Given the description of an element on the screen output the (x, y) to click on. 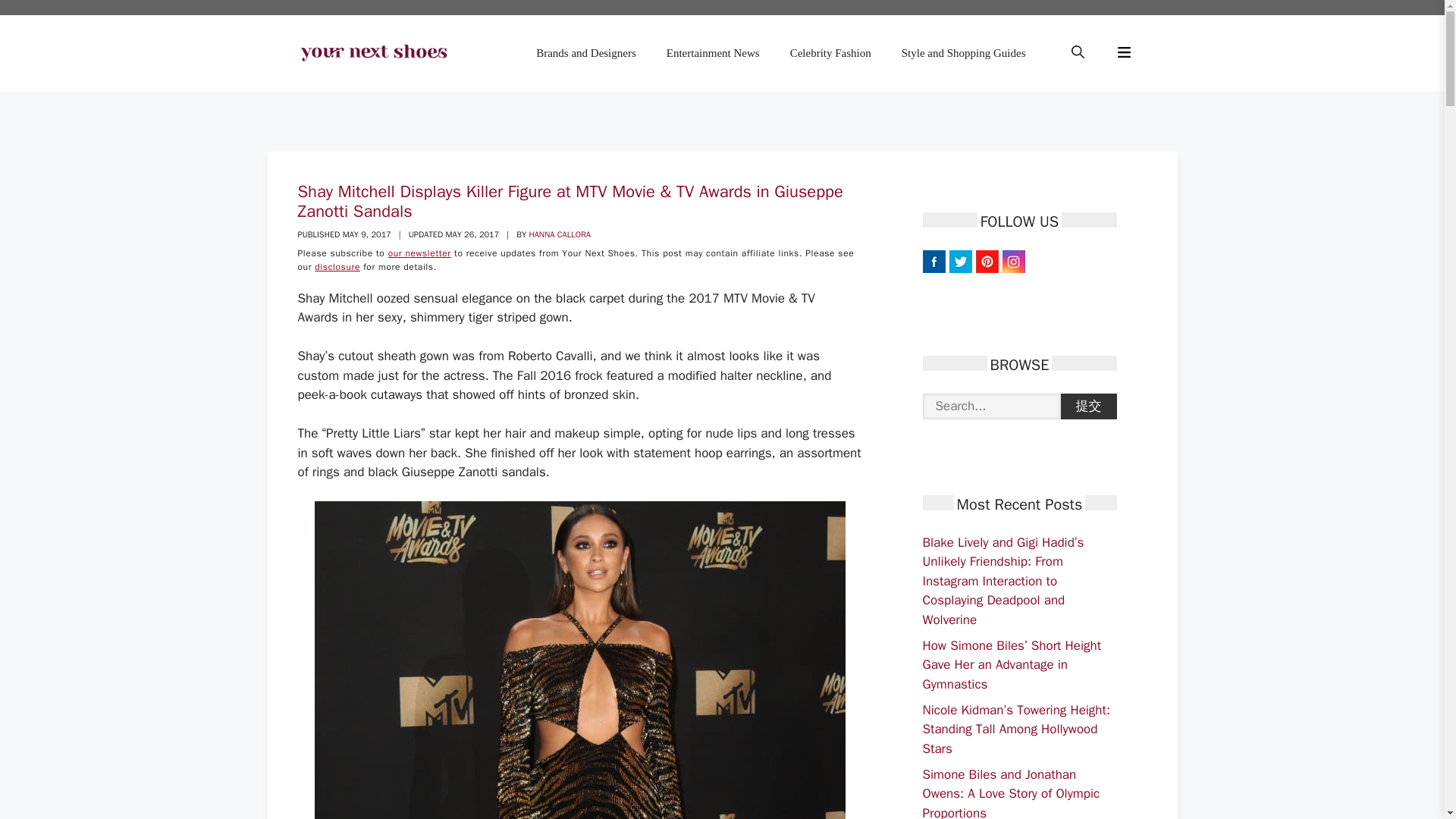
Entertainment News (712, 53)
Twitter (960, 261)
HANNA CALLORA (559, 234)
Facebook (932, 261)
Style and Shopping Guides (963, 53)
Instagram (1014, 261)
Celebrity Fashion (830, 53)
Pinterest (986, 261)
disclosure (336, 266)
Brands and Designers (585, 53)
our newsletter (419, 253)
